Given the description of an element on the screen output the (x, y) to click on. 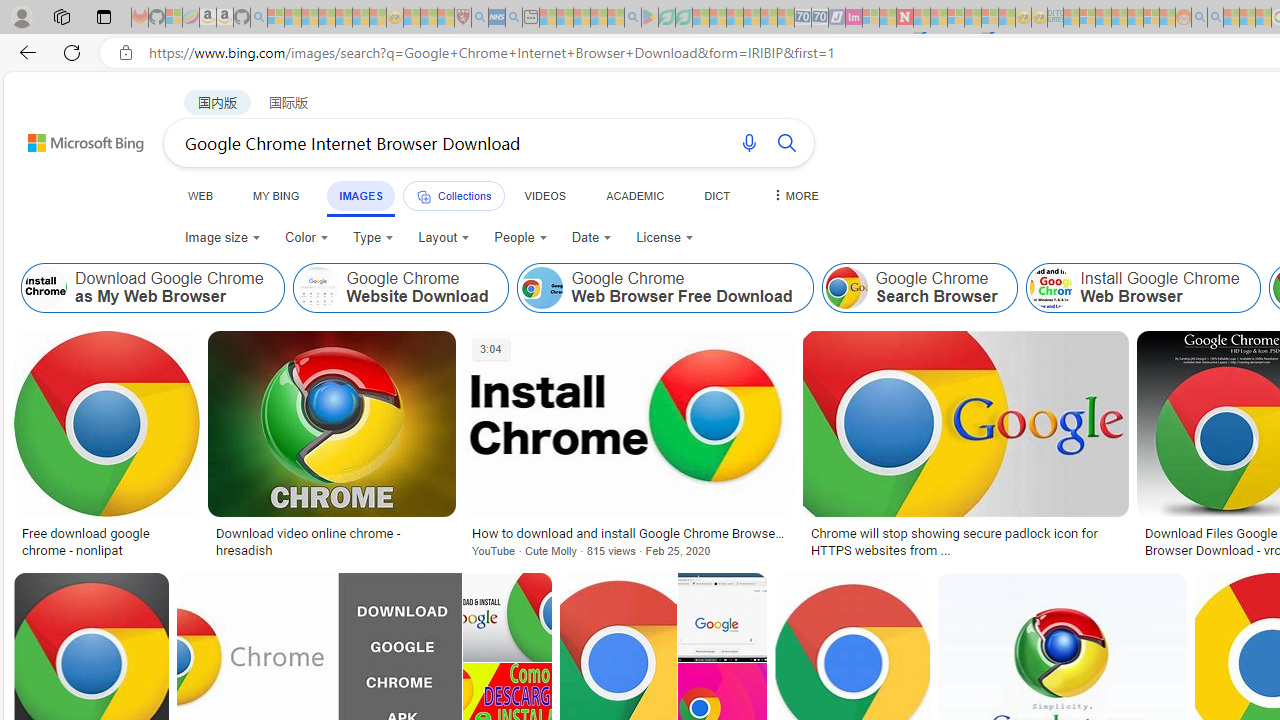
MSNBC - MSN - Sleeping (1071, 17)
Recipes - MSN - Sleeping (411, 17)
WEB (201, 195)
WEB (201, 195)
Date (591, 237)
Microsoft Start - Sleeping (1231, 17)
DICT (717, 195)
IMAGES (360, 195)
License (664, 237)
